Given the description of an element on the screen output the (x, y) to click on. 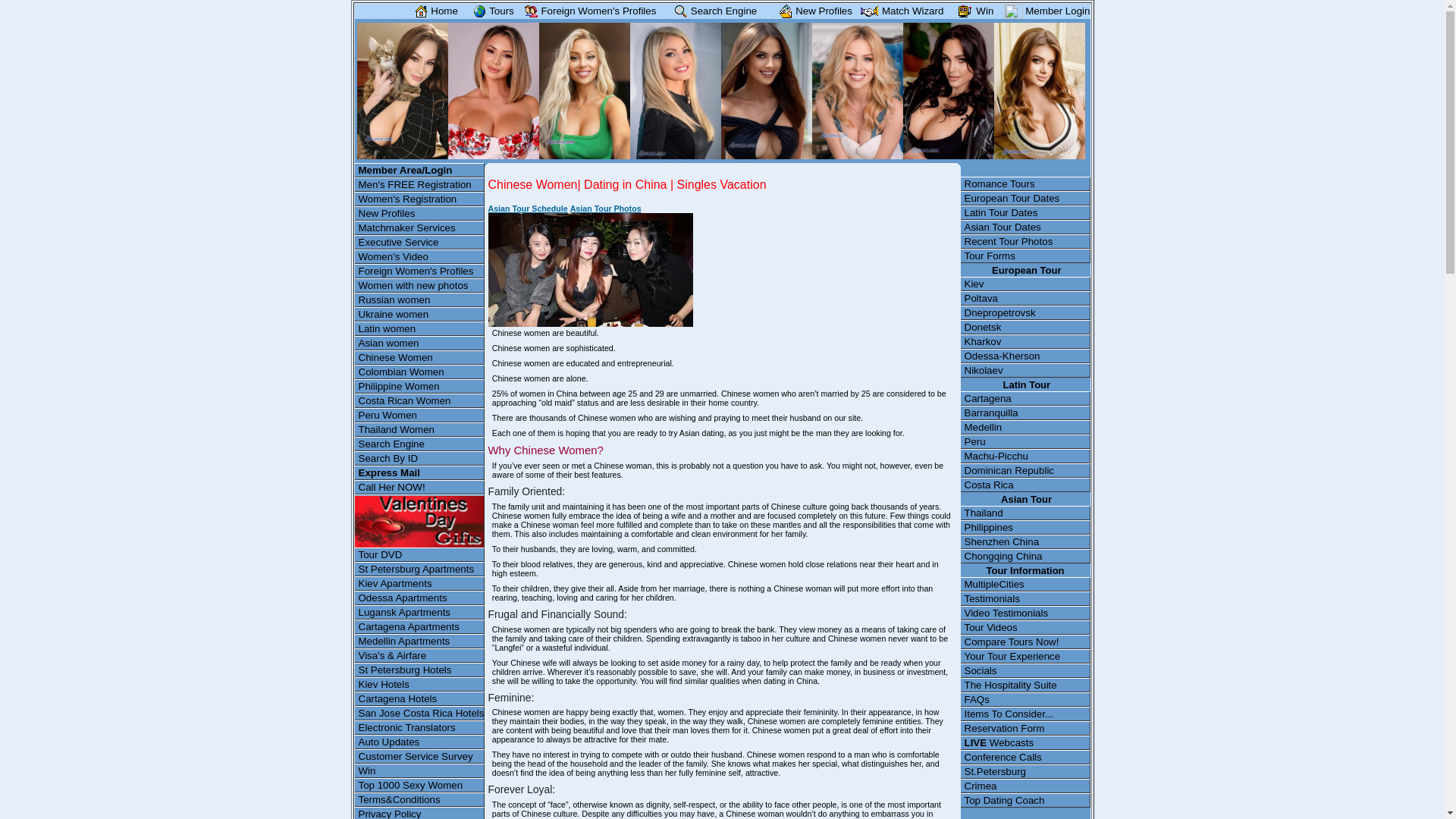
 New Profiles (812, 10)
Foreign Women's Profiles (419, 270)
Executive Service (419, 242)
Men's FREE Registration (419, 184)
 Home (433, 10)
Search By ID (419, 458)
  Match Wizard (900, 10)
 Foreign Women's Profiles (587, 10)
Ukraine women (419, 314)
Philippine Women (419, 386)
Matchmaker Services (419, 227)
Colombian Women (419, 371)
Costa Rican Women (419, 400)
 Tours (490, 10)
  Member Login (1045, 10)
